Given the description of an element on the screen output the (x, y) to click on. 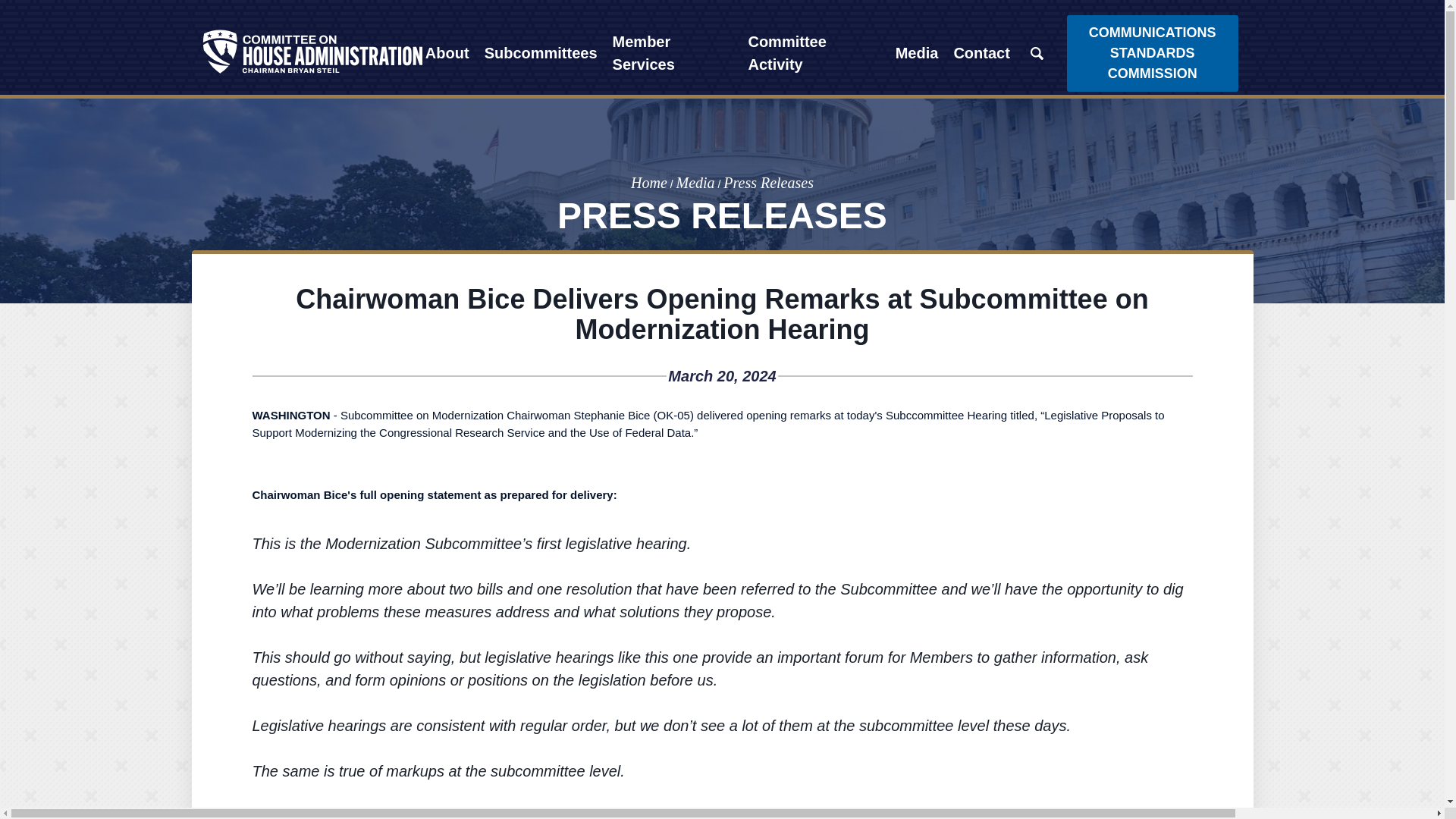
About (447, 52)
Member Services (673, 52)
Committee Activity (812, 52)
Search (1036, 53)
Media (917, 52)
Subcommittees (541, 52)
Contact (980, 52)
